Given the description of an element on the screen output the (x, y) to click on. 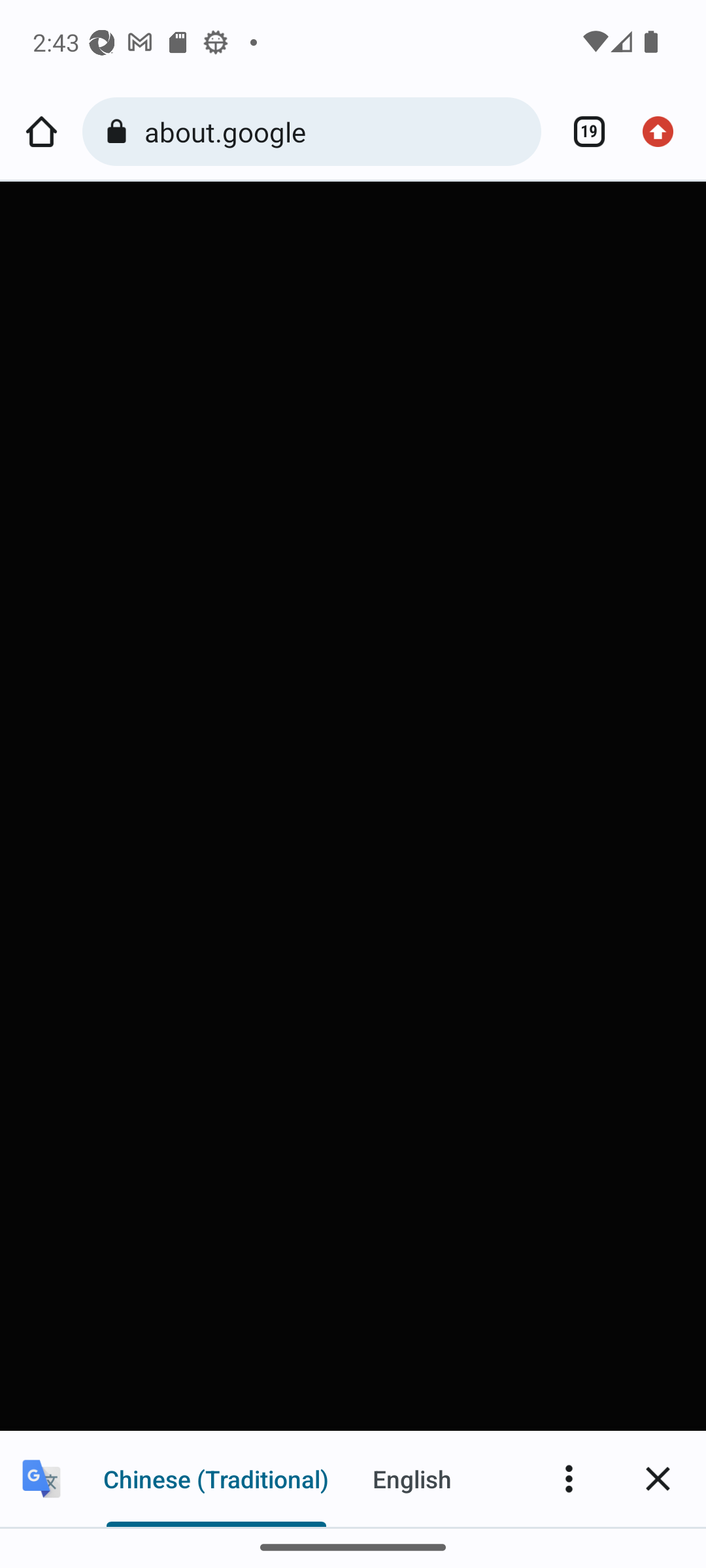
Home (41, 131)
Connection is secure (120, 131)
Switch or close tabs (582, 131)
Update available. More options (664, 131)
about.google (335, 131)
English (411, 1478)
More options (568, 1478)
Close (657, 1478)
